Given the description of an element on the screen output the (x, y) to click on. 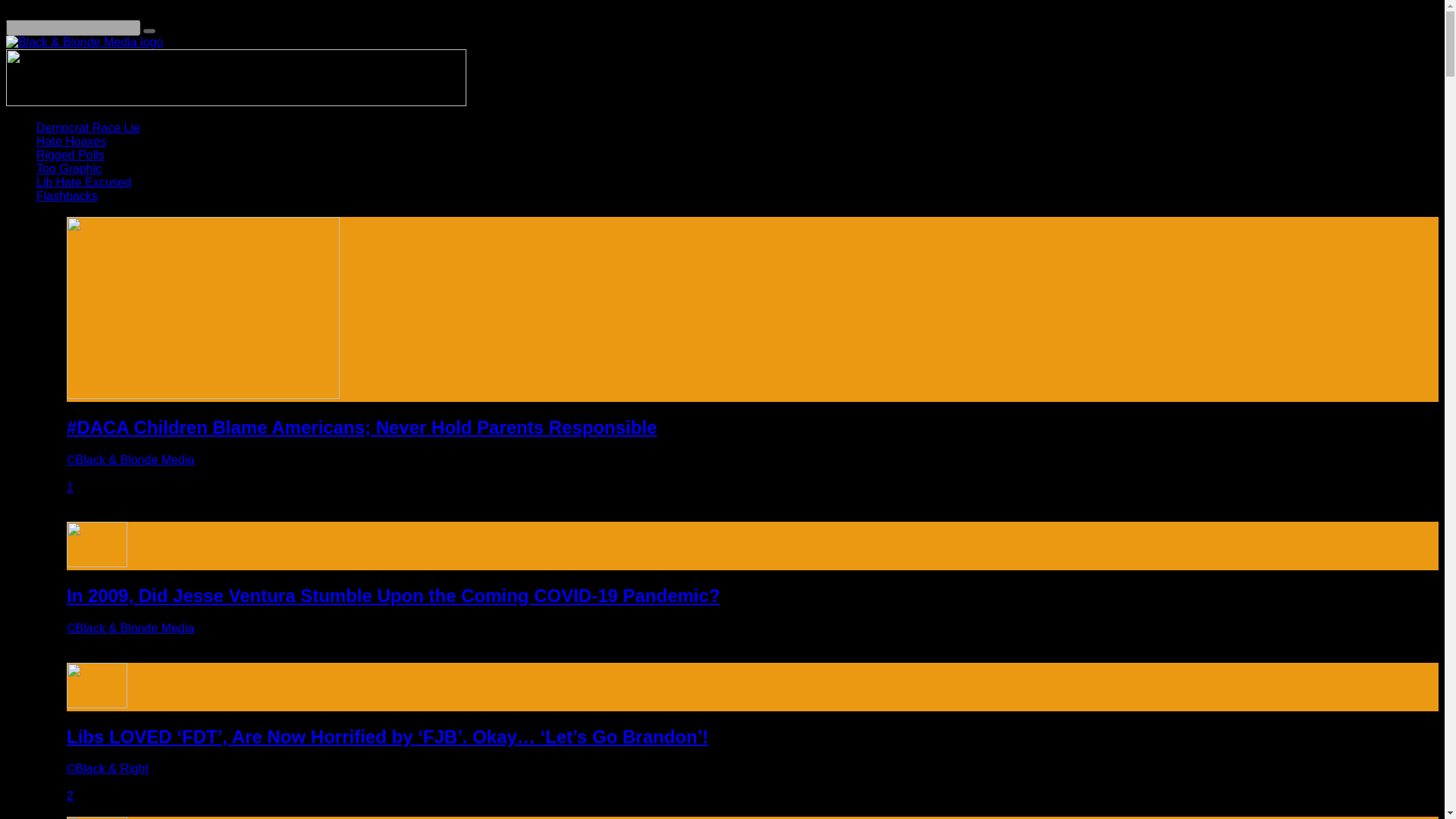
Rigged Polls (70, 154)
Hate Hoaxes (71, 141)
Too Graphic (68, 168)
Democrat Race Lie (87, 127)
Flashbacks (66, 195)
Lib Hate Excused (83, 182)
